Given the description of an element on the screen output the (x, y) to click on. 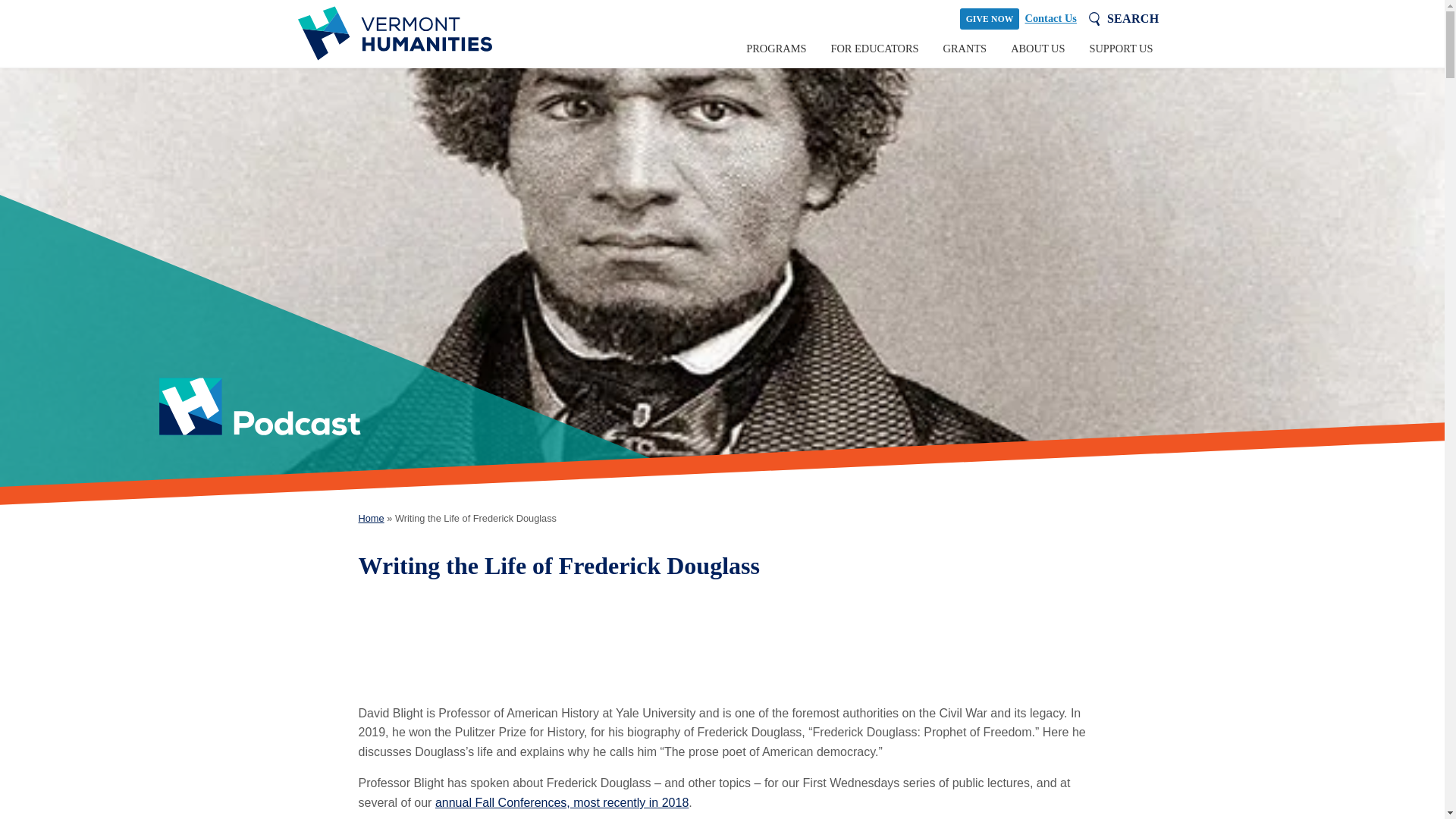
GRANTS (964, 49)
Writing the Life of Frederick Douglass (722, 638)
PROGRAMS (775, 49)
FOR EDUCATORS (874, 49)
